Given the description of an element on the screen output the (x, y) to click on. 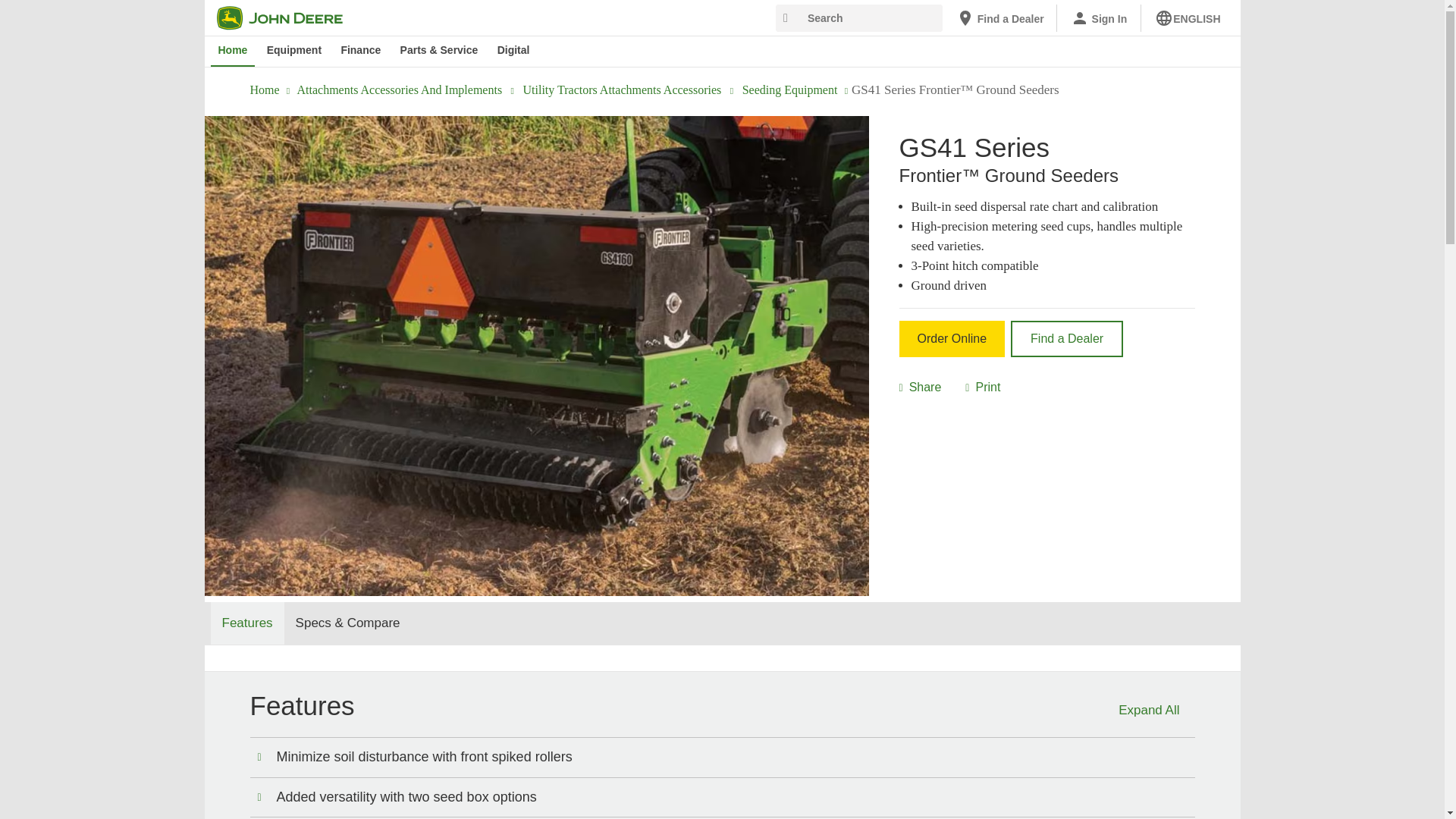
Sign In (1099, 17)
Home (233, 51)
Find a Dealer (1000, 17)
Equipment (294, 51)
Digital (513, 51)
John Deere (288, 17)
ENGLISH (1186, 17)
Finance (360, 51)
Skip to main content (214, 11)
